Given the description of an element on the screen output the (x, y) to click on. 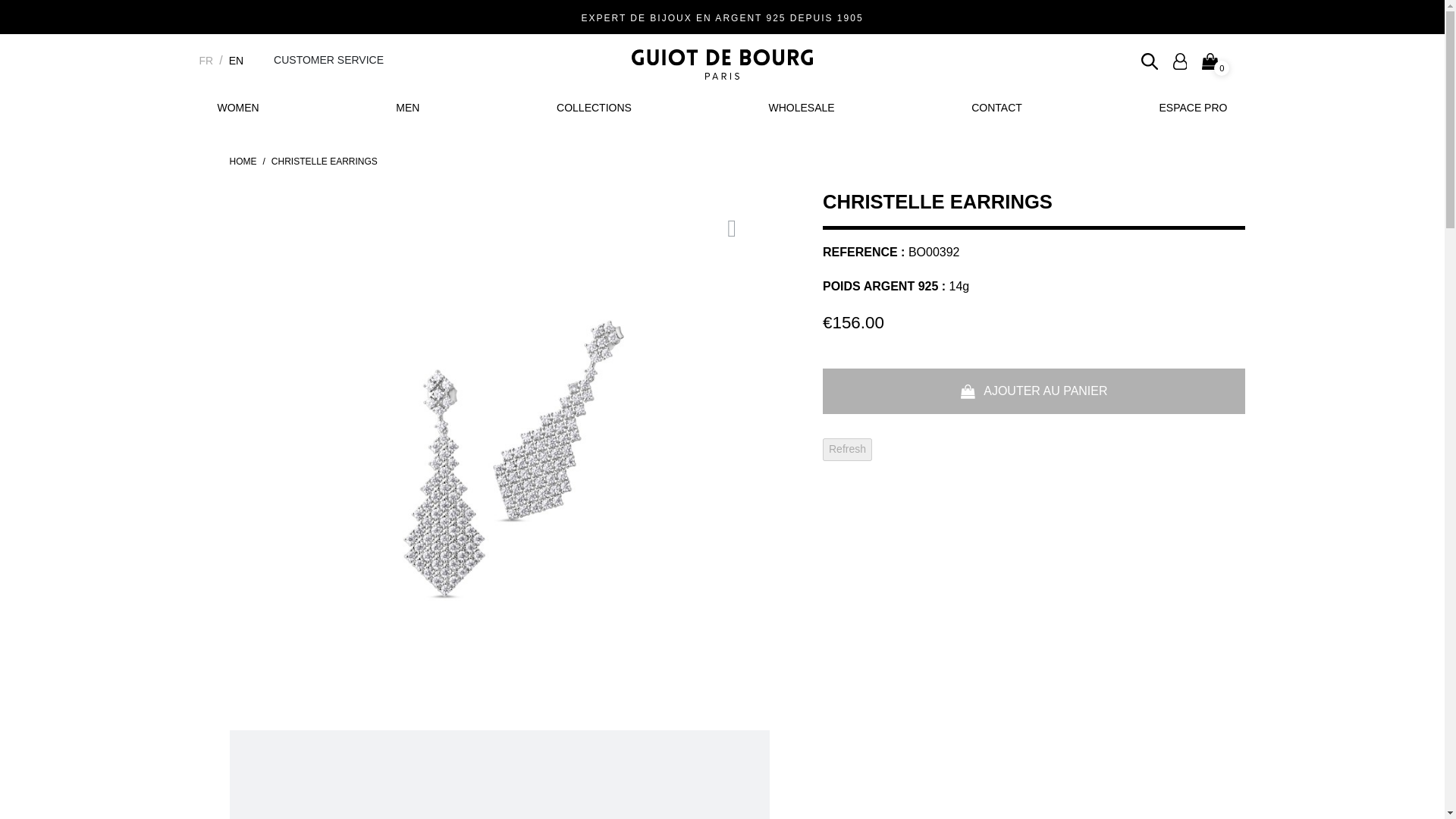
FR (205, 60)
WOMEN (237, 107)
AJOUTER AU PANIER (1034, 391)
Refresh (847, 449)
Refresh (847, 449)
Log in to your customer account (1180, 60)
CONTACT (997, 107)
EN (235, 60)
WHOLESALE (800, 107)
COLLECTIONS (593, 107)
MEN (407, 107)
HOME (242, 160)
ESPACE PRO (1192, 107)
CUSTOMER SERVICE (328, 60)
